Given the description of an element on the screen output the (x, y) to click on. 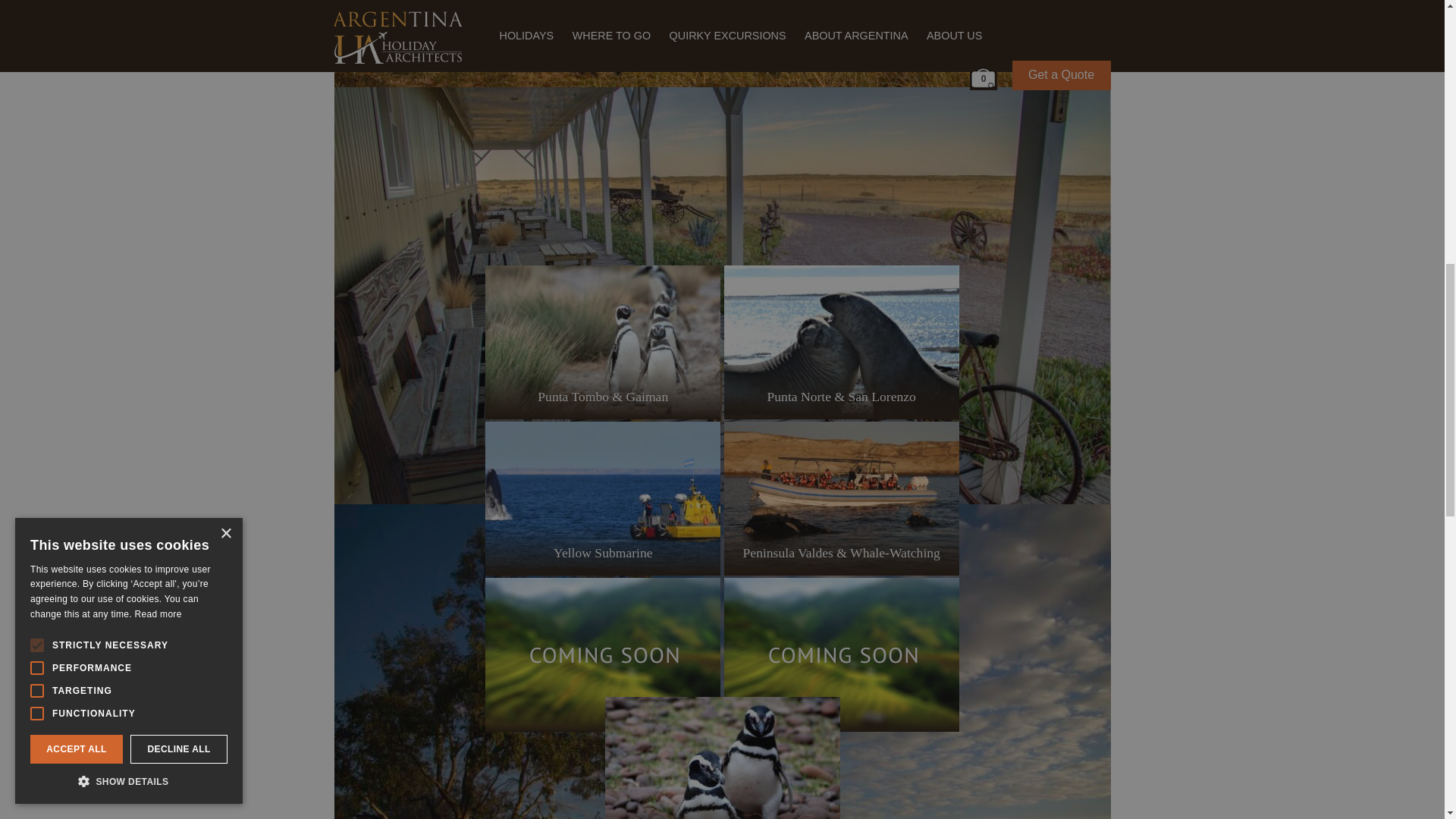
Wildlife of Argentina (722, 757)
Yellow Submarine (602, 498)
